Given the description of an element on the screen output the (x, y) to click on. 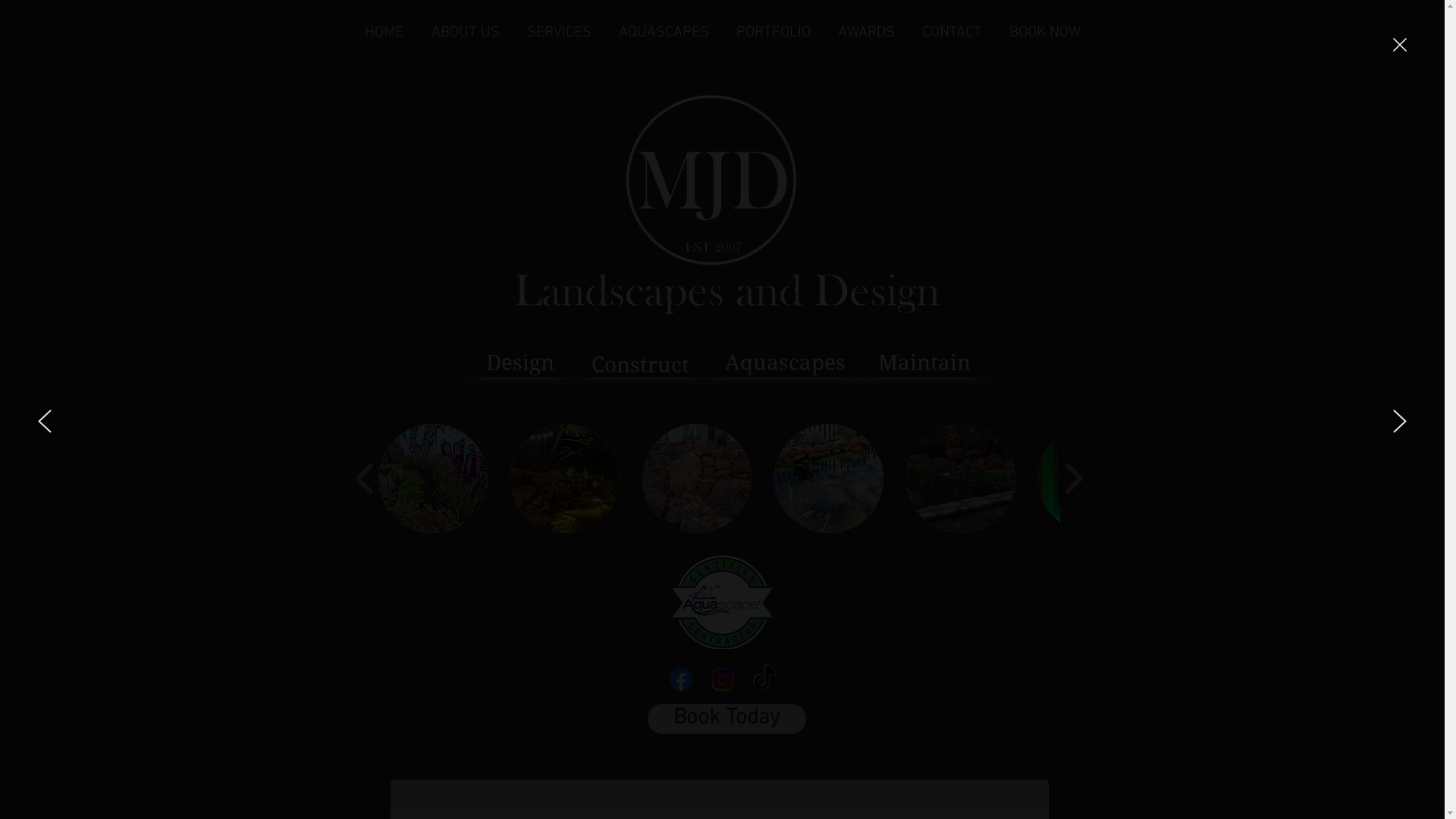
Design Element type: text (519, 362)
PORTFOLIO Element type: text (772, 32)
BOOK NOW Element type: text (1043, 32)
Aquascapes Element type: text (784, 364)
AQUASCAPES Element type: text (663, 32)
ABOUT US Element type: text (464, 32)
Construct Element type: text (640, 363)
Maintain Element type: text (924, 362)
AWARDS Element type: text (865, 32)
HOME Element type: text (383, 32)
Book Today Element type: text (726, 718)
CONTACT Element type: text (951, 32)
